Given the description of an element on the screen output the (x, y) to click on. 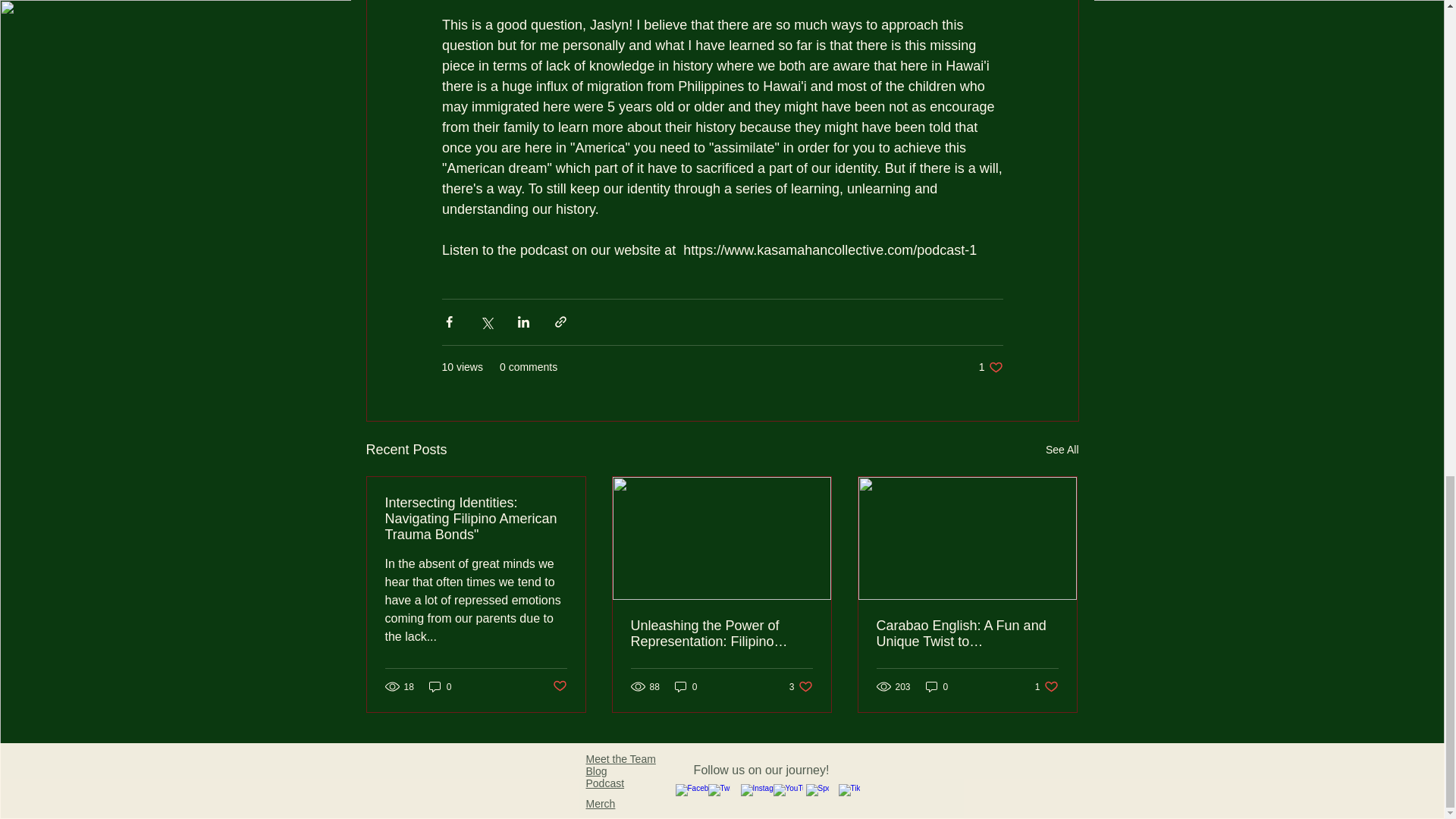
Meet the Team (990, 367)
0 (620, 758)
Post not marked as liked (1046, 686)
0 (440, 686)
0 (558, 686)
